Given the description of an element on the screen output the (x, y) to click on. 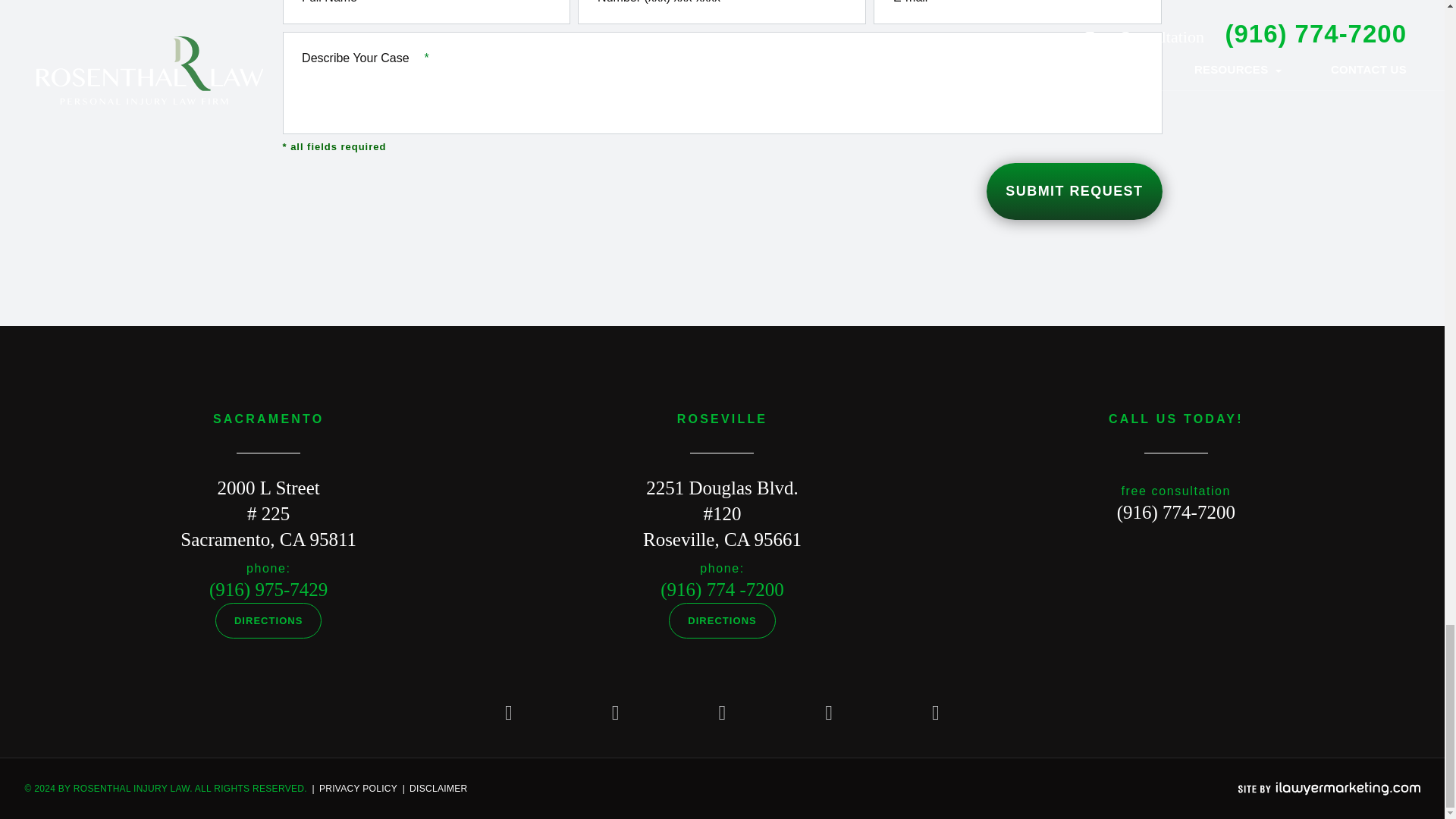
Phone (722, 589)
Phone (268, 589)
Free Consultation (1175, 512)
